Given the description of an element on the screen output the (x, y) to click on. 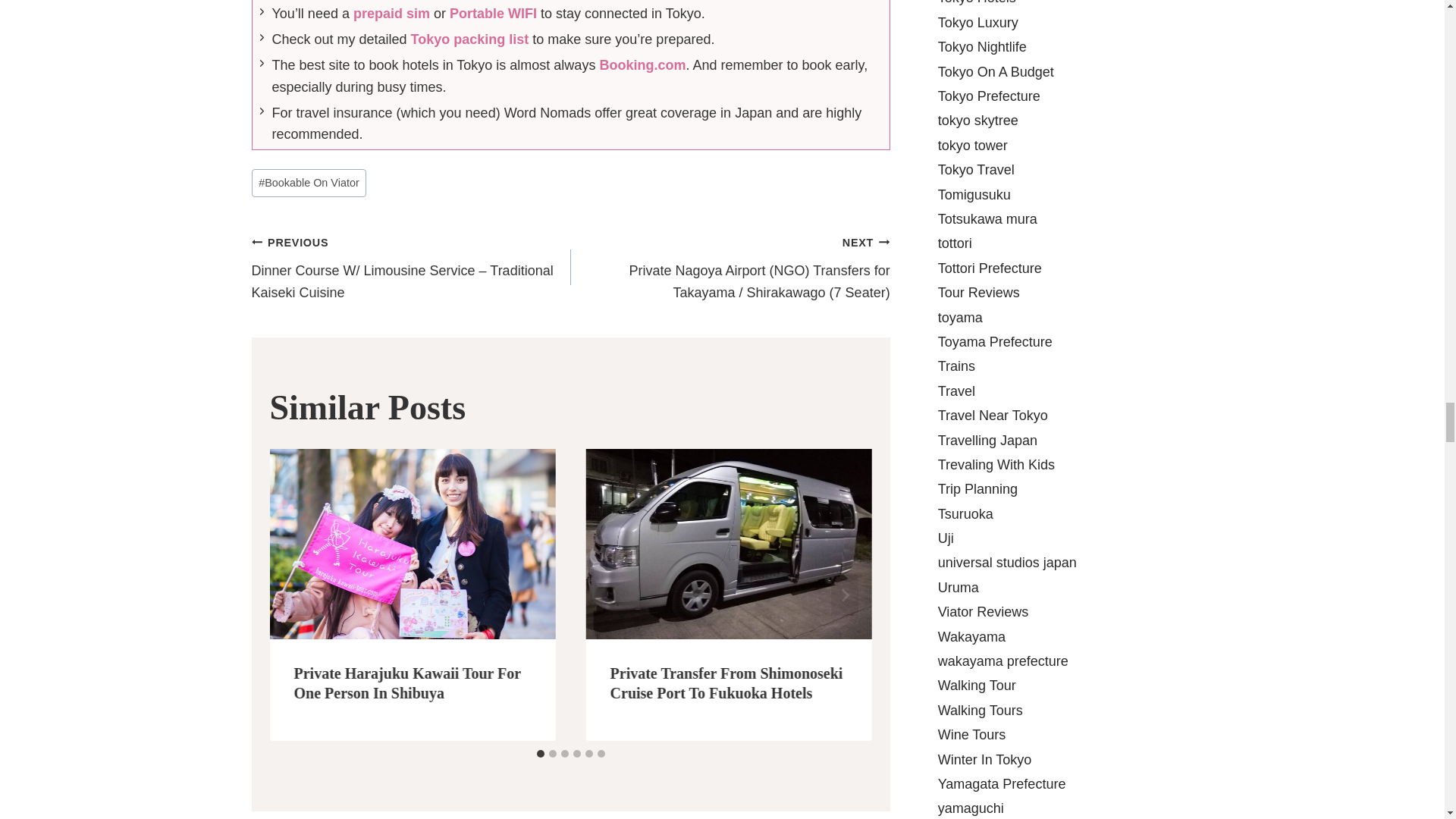
Bookable On Viator (308, 182)
